Given the description of an element on the screen output the (x, y) to click on. 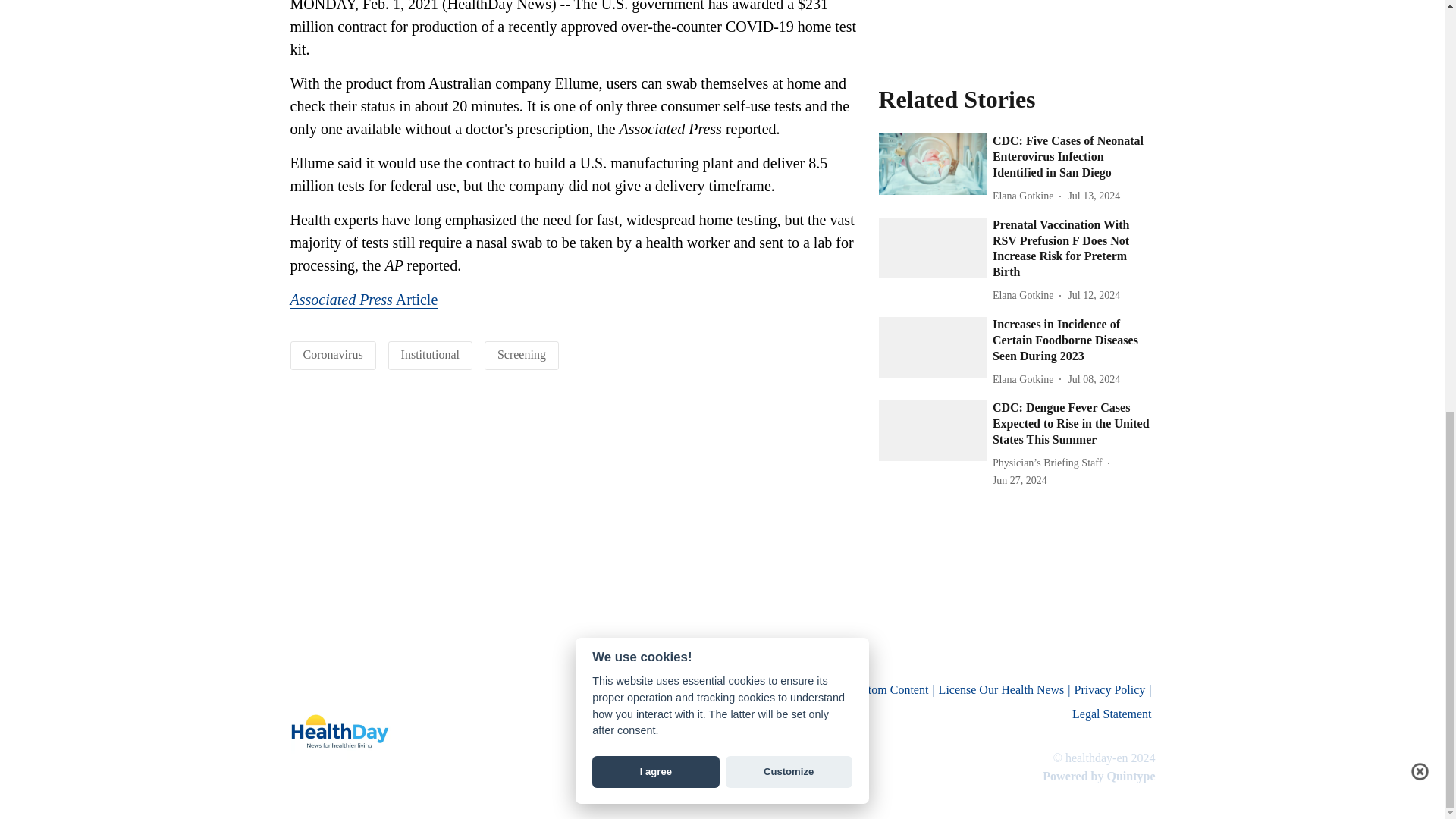
2024-07-12 22:19 (1093, 195)
2024-06-26 19:00 (1019, 480)
3rd party ad content (1015, 22)
2024-07-12 15:38 (1093, 295)
2024-07-08 15:34 (1093, 379)
